Given the description of an element on the screen output the (x, y) to click on. 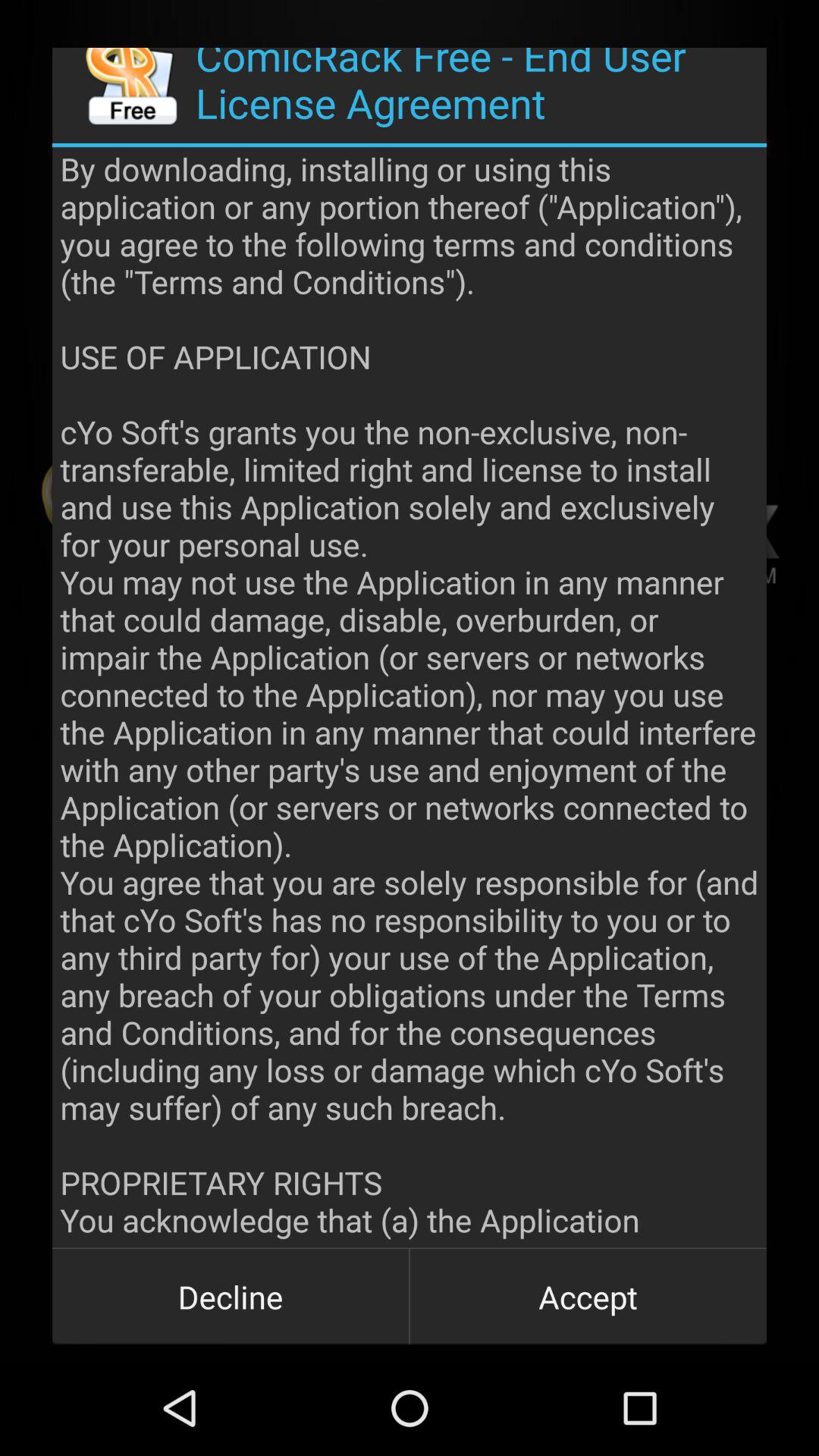
click accept button (588, 1296)
